Given the description of an element on the screen output the (x, y) to click on. 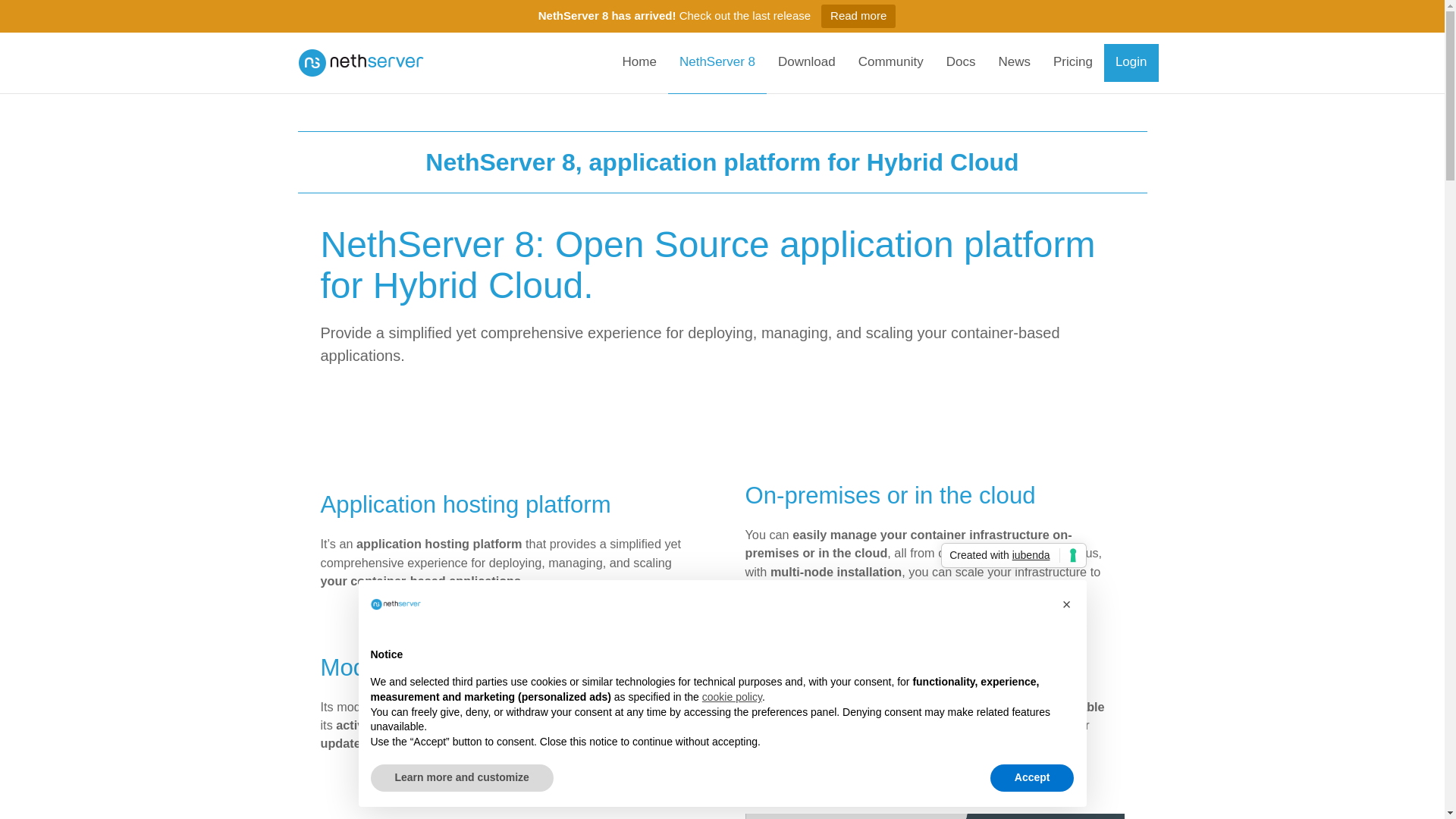
Read more (858, 15)
Download (807, 62)
Pricing (1072, 62)
Login (1130, 62)
NethServer 8 (717, 62)
Community (890, 62)
Docs (960, 62)
iubenda - Cookie Policy and Cookie Compliance Management (1013, 555)
News (1014, 62)
Home (639, 62)
